Given the description of an element on the screen output the (x, y) to click on. 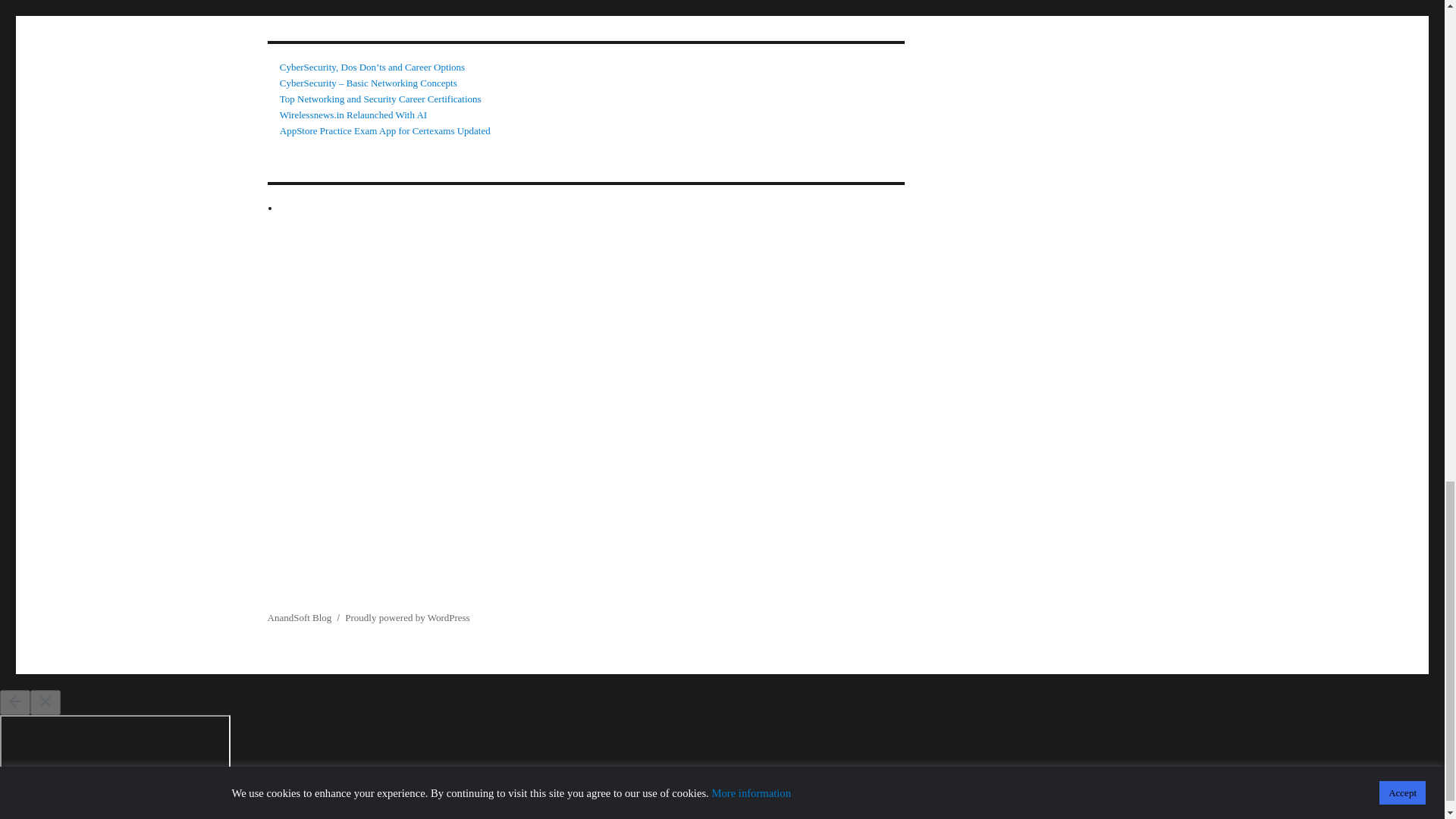
Top Networking and Security Career Certifications (380, 98)
Wirelessnews.in Relaunched With AI (352, 114)
Advertisement (721, 564)
AppStore Practice Exam App for Certexams Updated (384, 130)
